Given the description of an element on the screen output the (x, y) to click on. 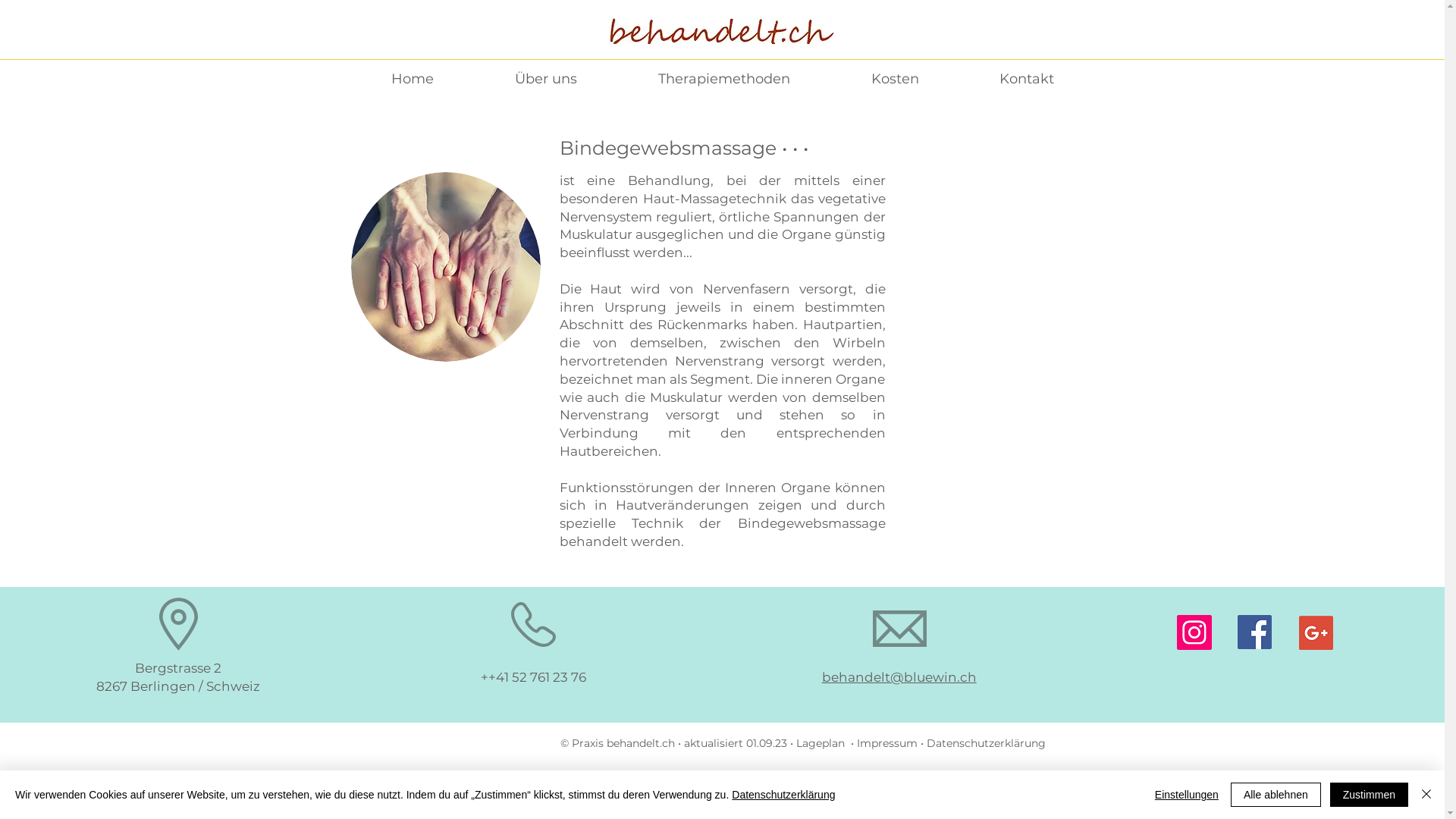
  Element type: text (1046, 742)
Bergstrasse 2
8267 Berlingen / Schweiz Element type: text (178, 676)
Therapiemethoden Element type: text (723, 79)
++41 52 761 23 76 Element type: text (533, 676)
behandelt@bluewin.ch Element type: text (899, 676)
Lageplan  Element type: text (821, 742)
Kosten Element type: text (895, 79)
Alle ablehnen Element type: text (1275, 794)
Zustimmen Element type: text (1369, 794)
Kontakt Element type: text (1025, 79)
Home Element type: text (411, 79)
